Given the description of an element on the screen output the (x, y) to click on. 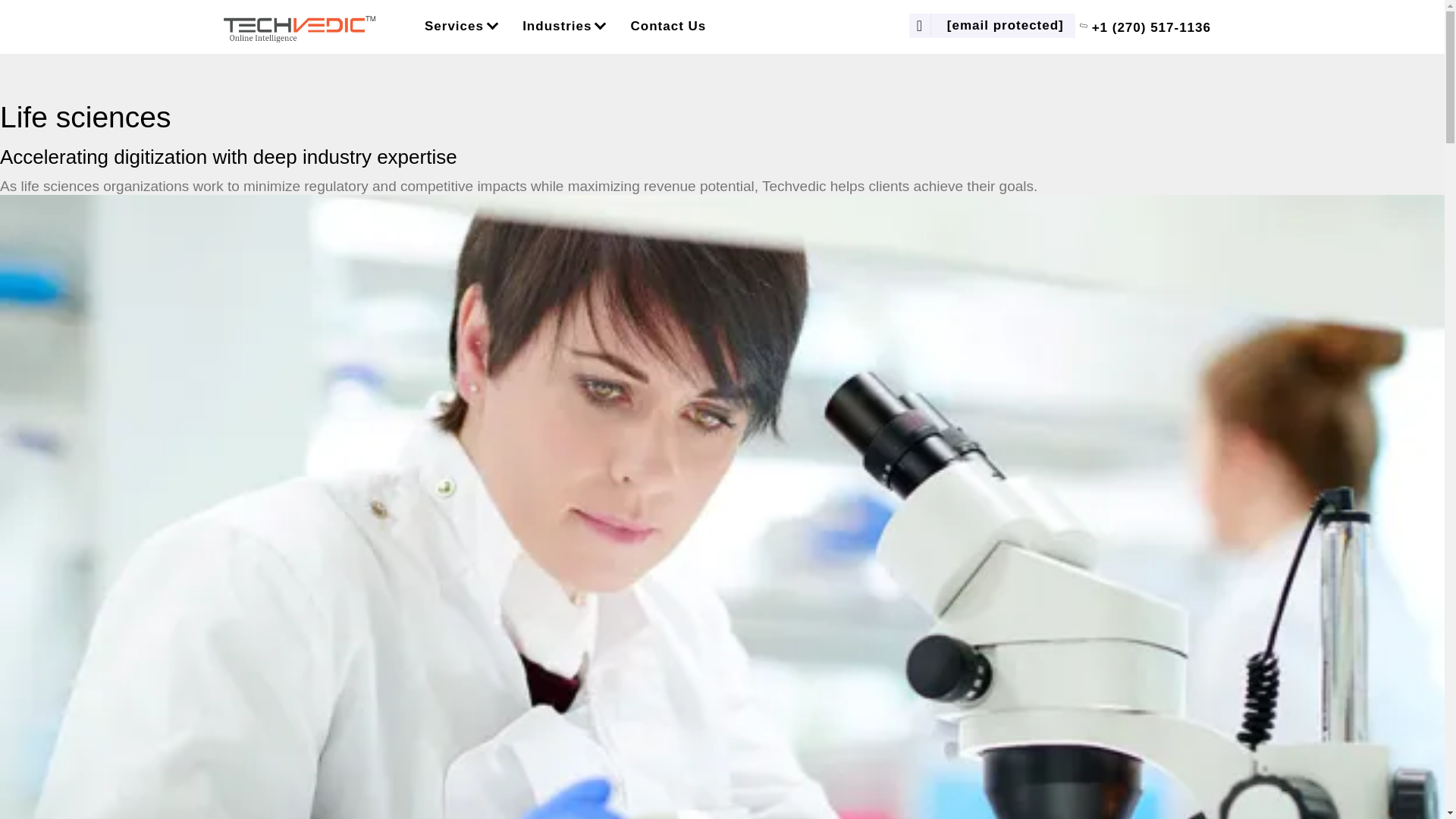
Contact Us (668, 26)
Industries (563, 26)
Services (460, 26)
